Given the description of an element on the screen output the (x, y) to click on. 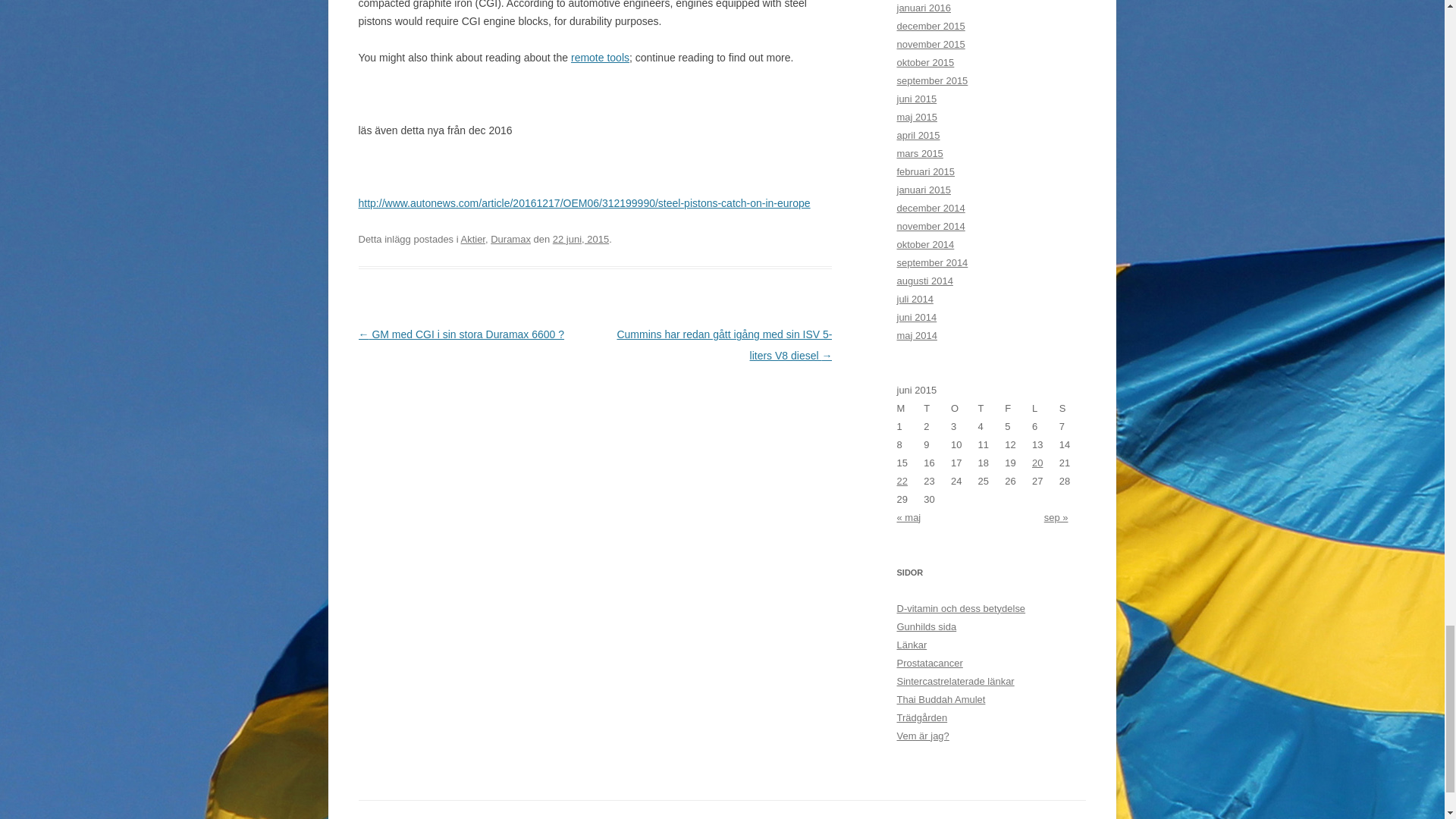
remote tools (599, 57)
22 juni, 2015 (580, 238)
Duramax (510, 238)
fredag (1018, 408)
onsdag (964, 408)
Aktier (472, 238)
torsdag (992, 408)
07:35 (580, 238)
tisdag (936, 408)
